Given the description of an element on the screen output the (x, y) to click on. 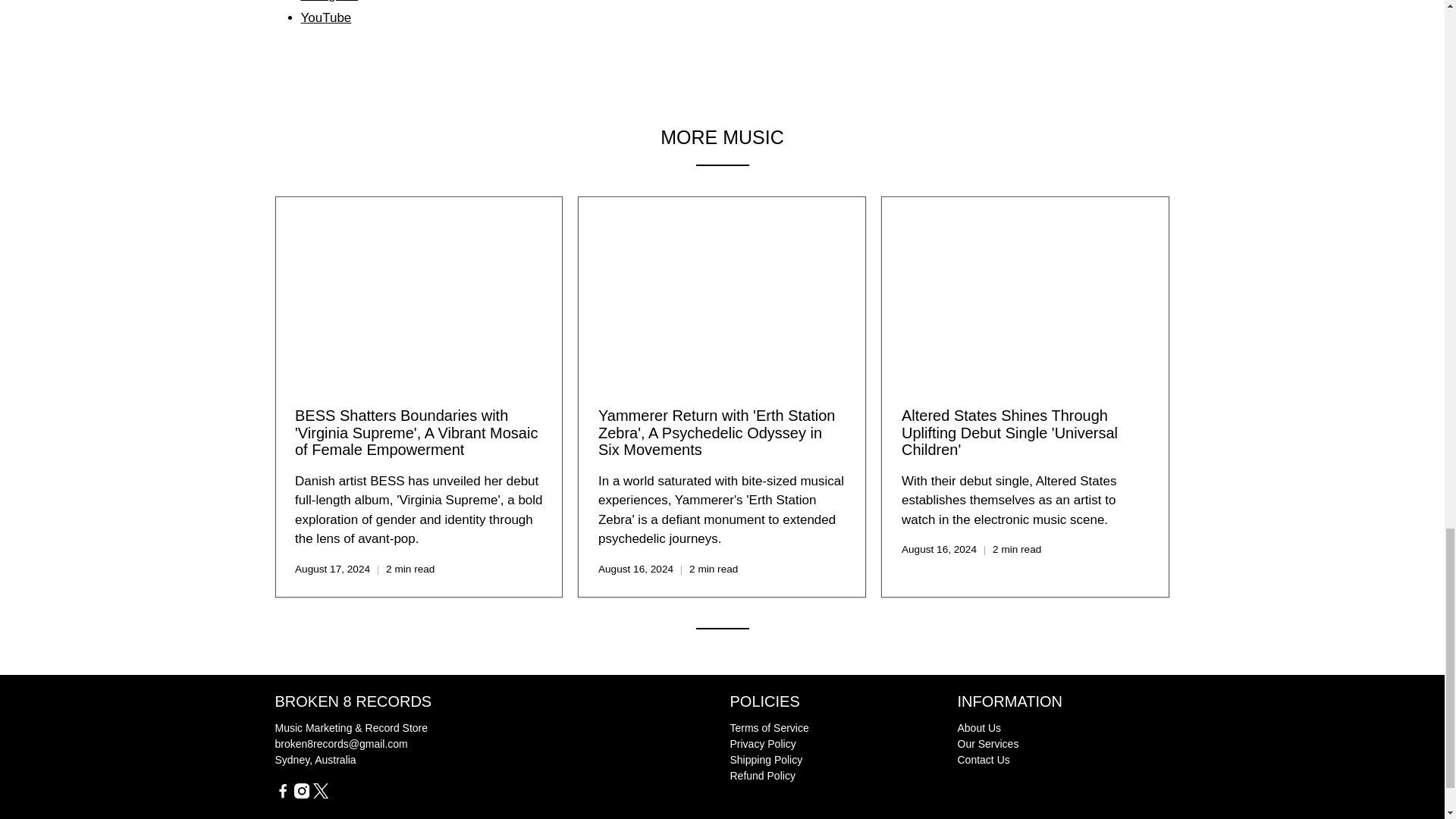
Instagram (328, 1)
YouTube (324, 17)
